Given the description of an element on the screen output the (x, y) to click on. 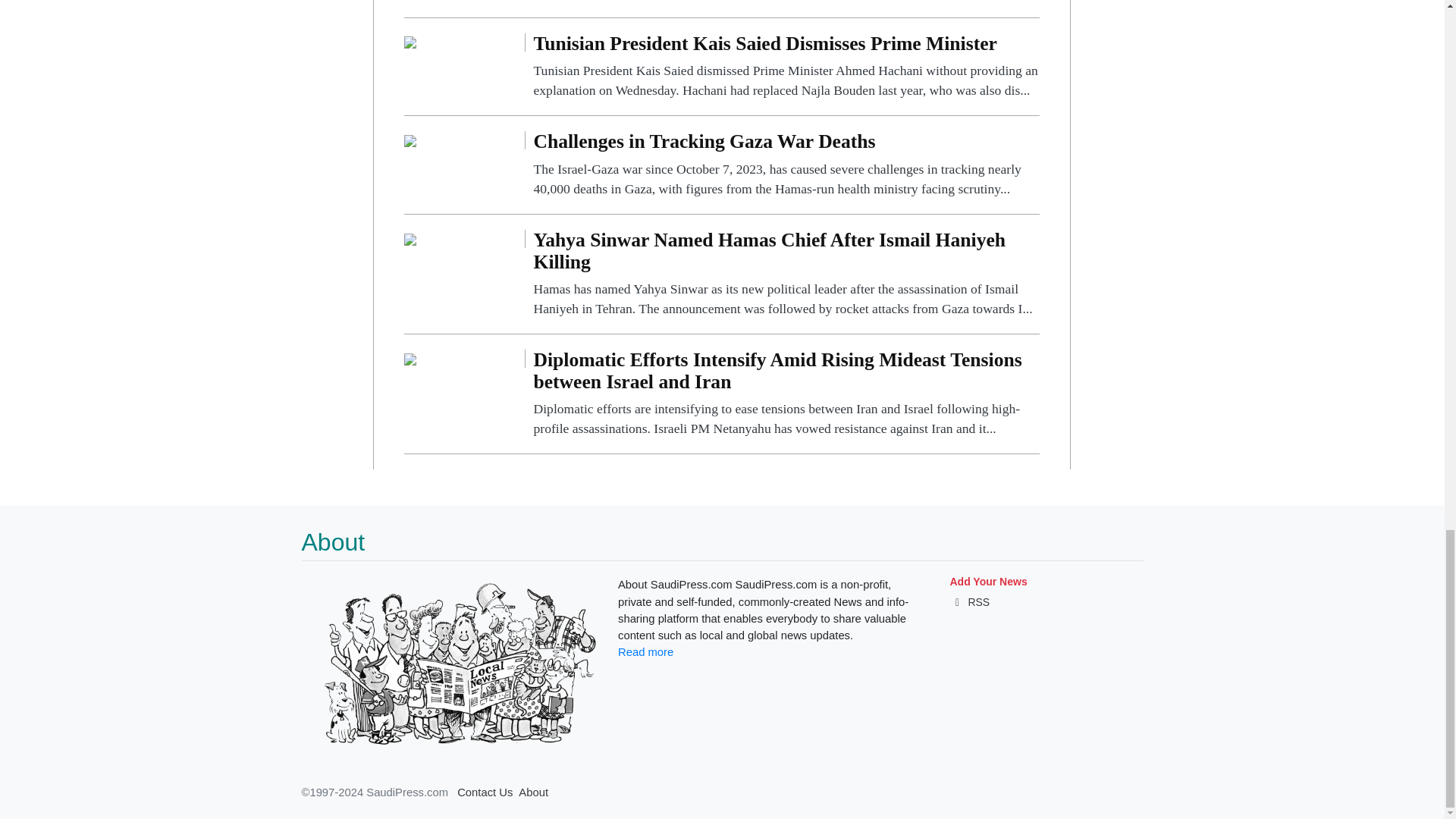
Tunisian President Kais Saied Dismisses Prime Minister (410, 42)
Challenges in Tracking Gaza War Deaths (785, 165)
Tunisian President Kais Saied Dismisses Prime Minister (785, 66)
Challenges in Tracking Gaza War Deaths (410, 139)
